Given the description of an element on the screen output the (x, y) to click on. 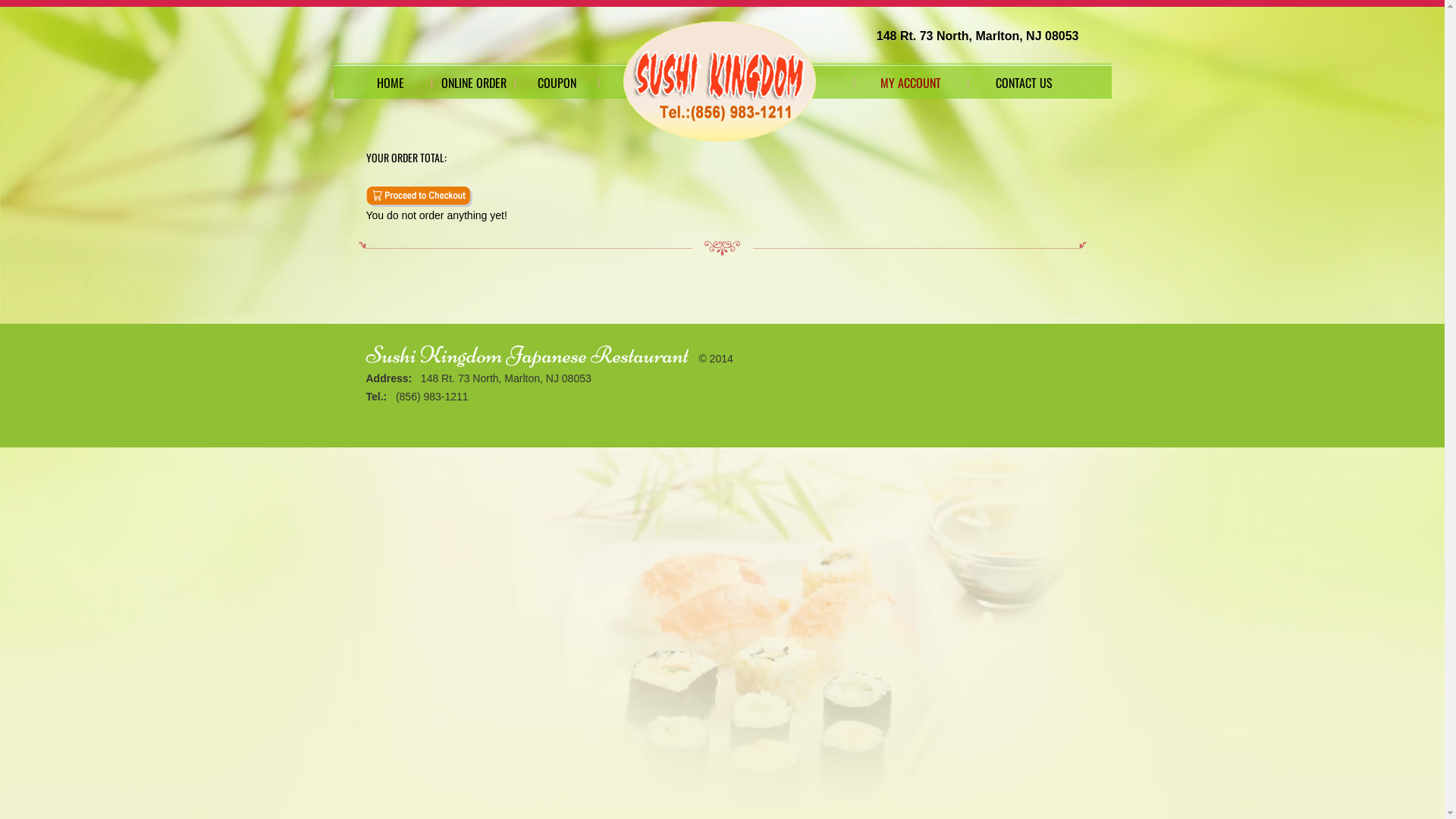
ONLINE ORDER Element type: text (473, 82)
HOME Element type: text (390, 82)
CONTACT US Element type: text (1024, 82)
COUPON Element type: text (557, 82)
MY ACCOUNT Element type: text (910, 82)
Sushi Kingdom Japanese Restaurant Element type: text (526, 354)
